Given the description of an element on the screen output the (x, y) to click on. 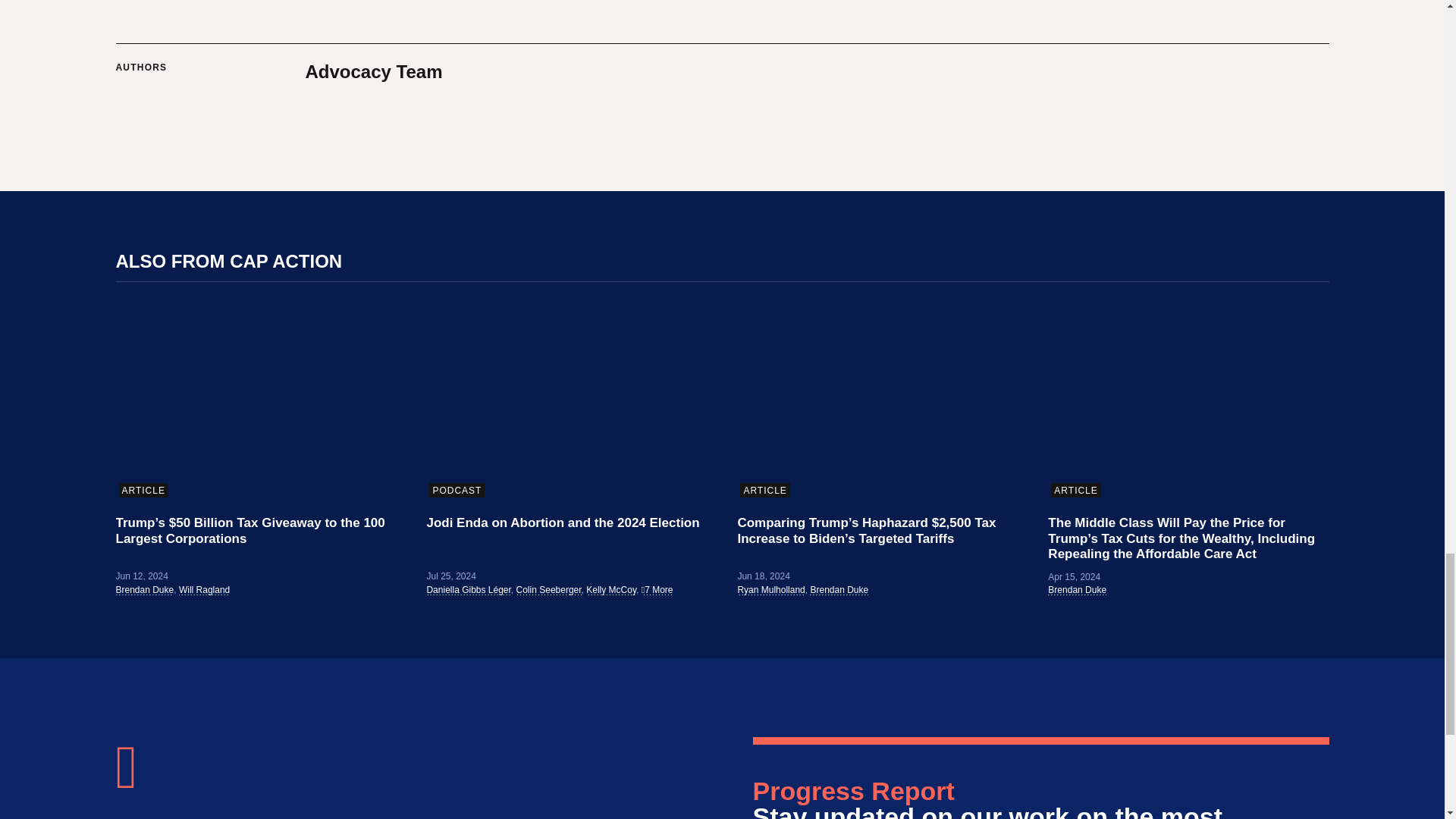
Brendan Duke (144, 589)
Will Ragland (204, 589)
Colin Seeberger (548, 589)
Kelly McCoy (611, 589)
